Given the description of an element on the screen output the (x, y) to click on. 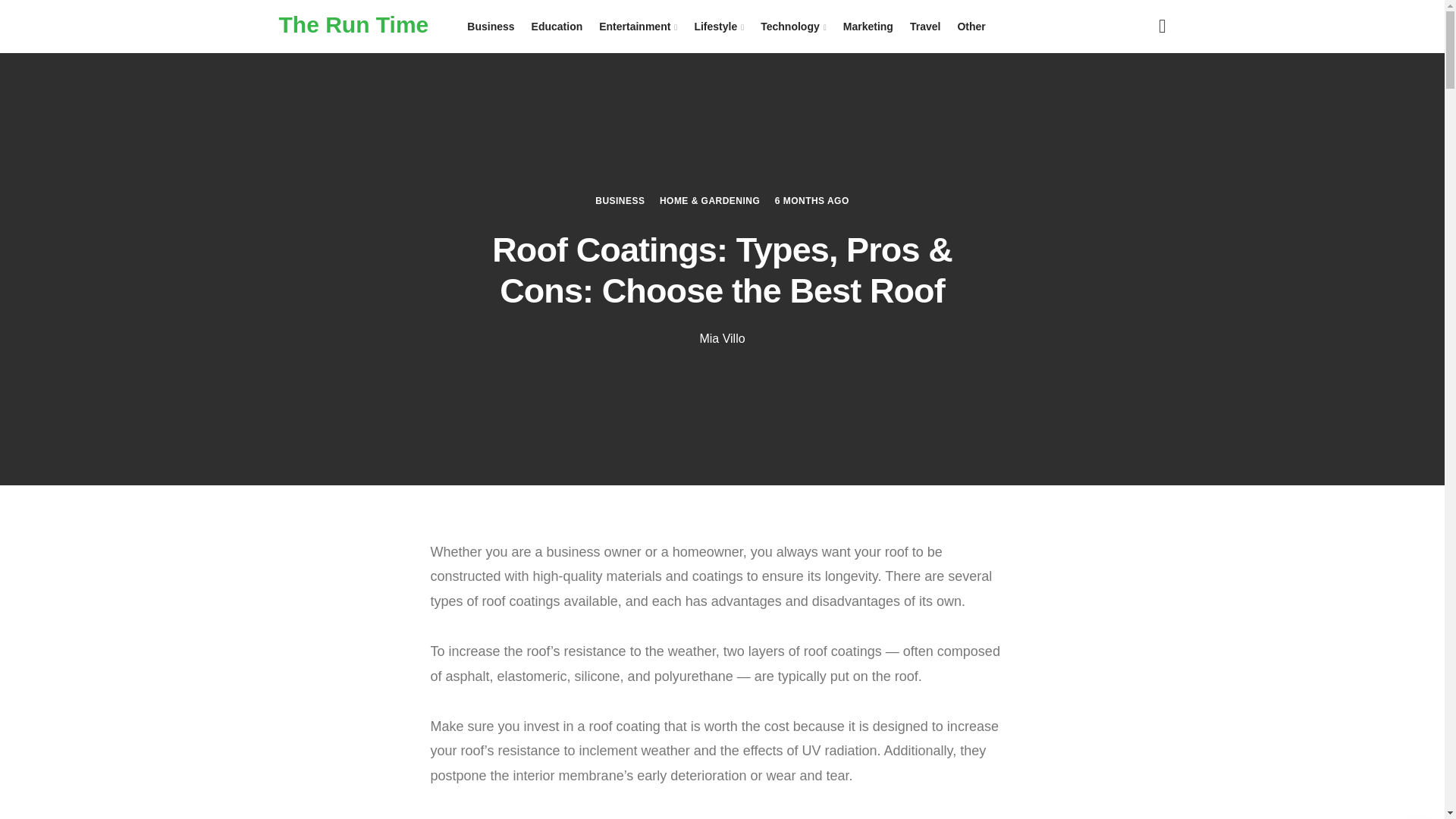
Marketing (867, 26)
Entertainment (638, 26)
Lifestyle (718, 26)
The Run Time (354, 24)
Business (490, 26)
BUSINESS (620, 201)
Technology (793, 26)
Mia Villo (721, 338)
Education (556, 26)
